Given the description of an element on the screen output the (x, y) to click on. 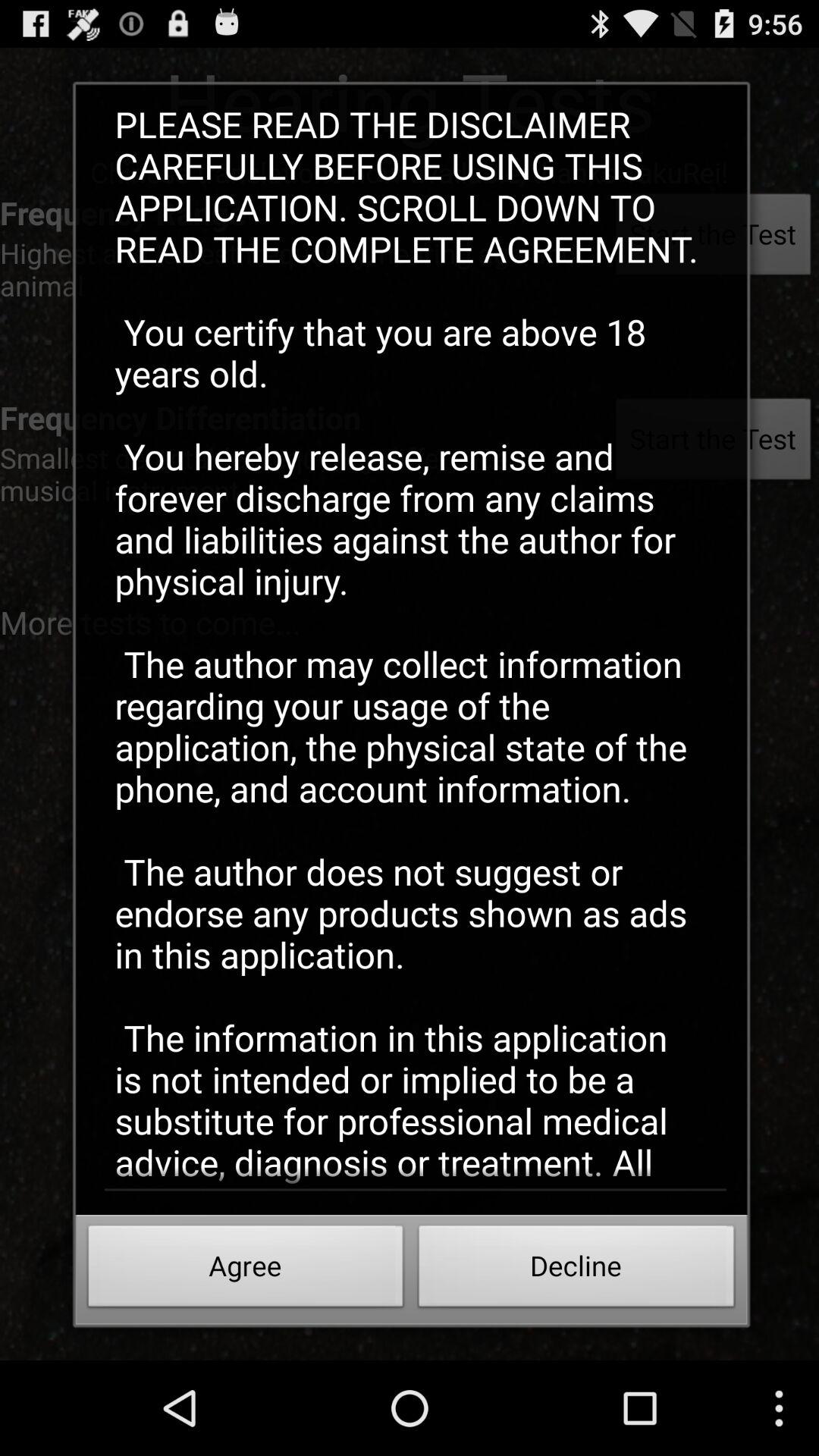
select agree button (245, 1270)
